Given the description of an element on the screen output the (x, y) to click on. 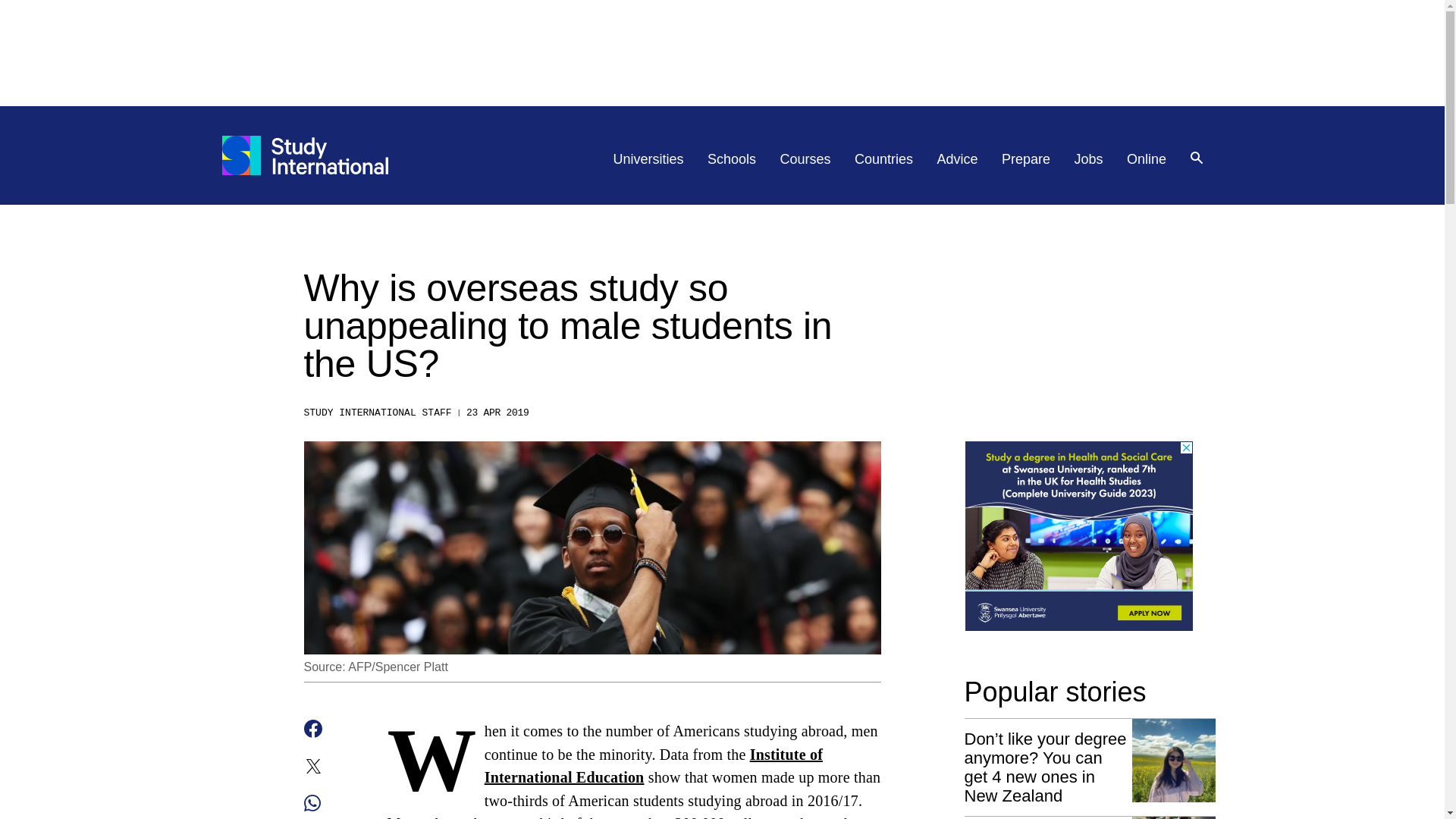
3rd party ad content (1078, 535)
Advice (957, 159)
Courses (805, 159)
STUDY INTERNATIONAL STAFF (376, 412)
3rd party ad content (721, 52)
Universities (648, 159)
Schools (731, 159)
Prepare (1025, 159)
Online (1146, 159)
